Given the description of an element on the screen output the (x, y) to click on. 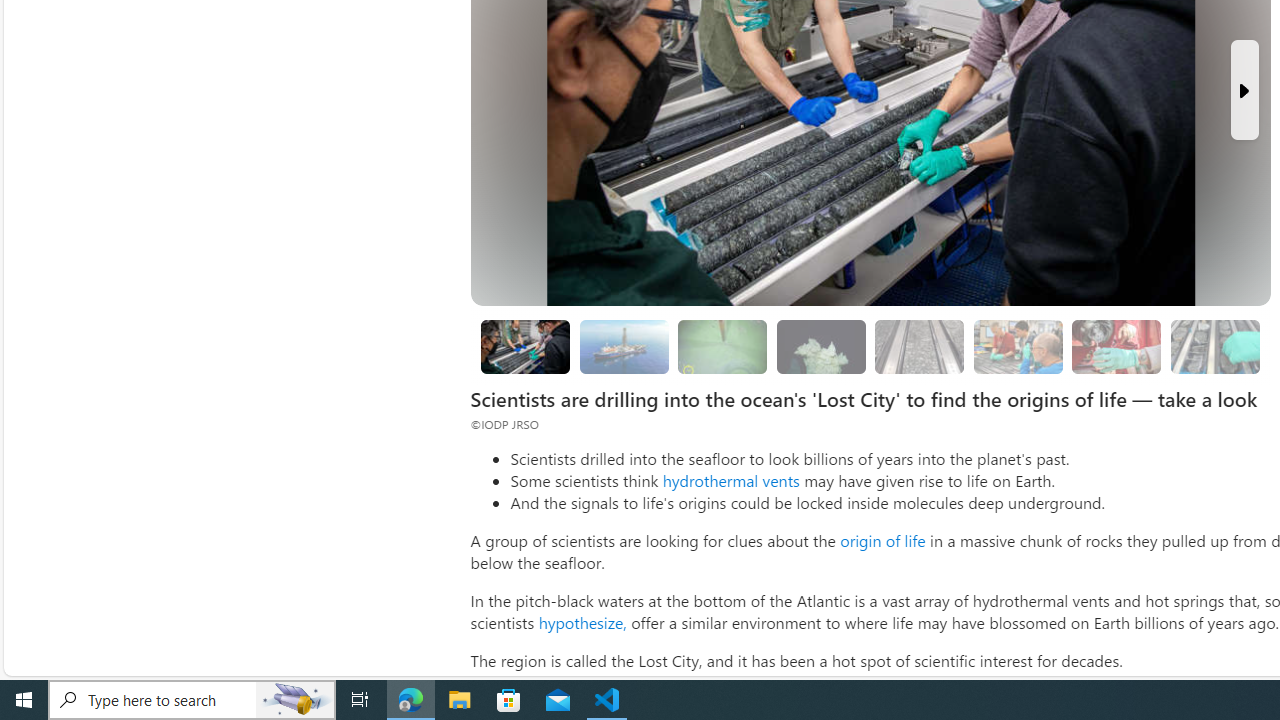
Next Slide (1244, 89)
origin of life (882, 539)
hypothesize, (582, 622)
